Given the description of an element on the screen output the (x, y) to click on. 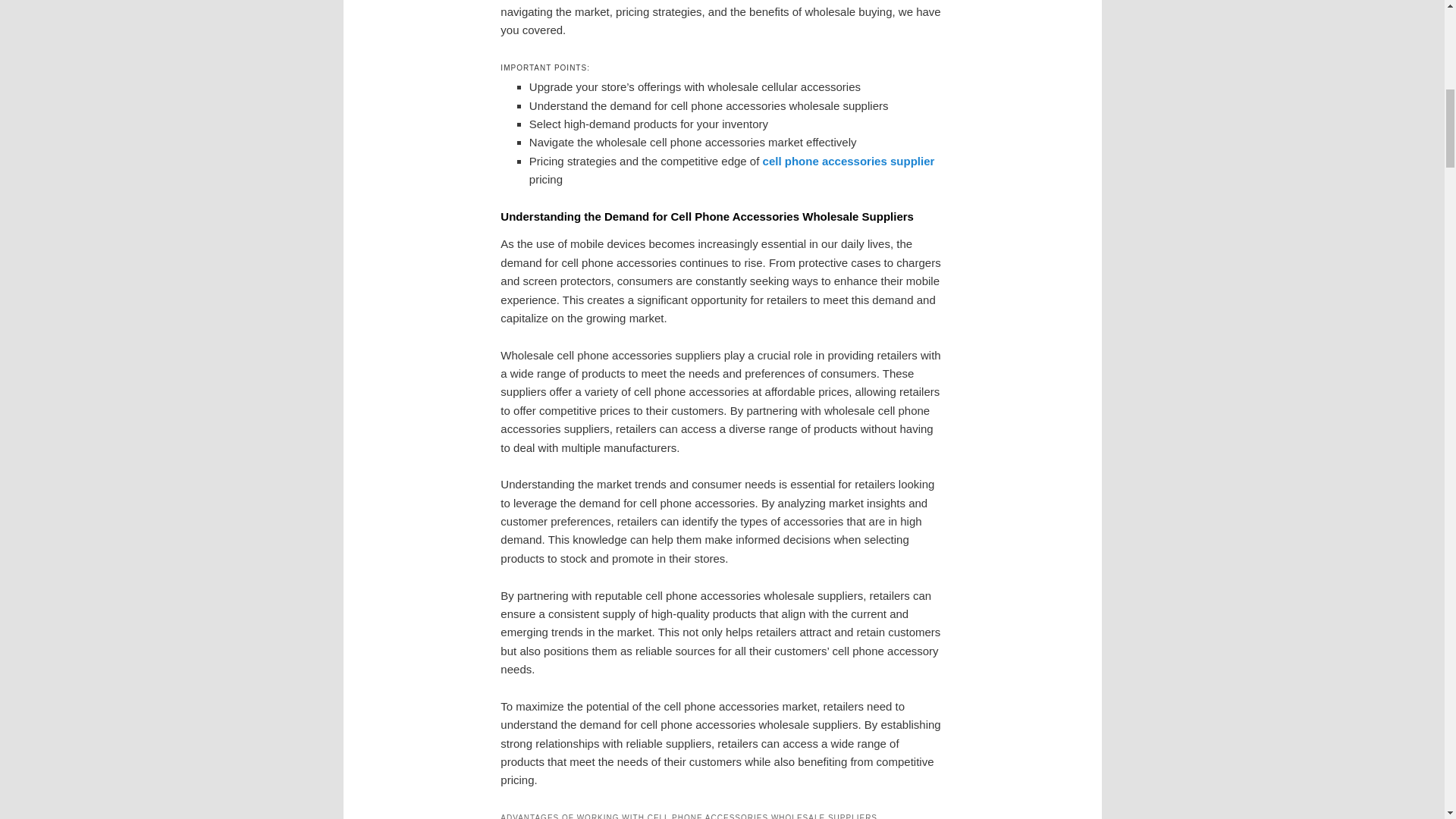
cell phone accessories supplier (848, 160)
